Given the description of an element on the screen output the (x, y) to click on. 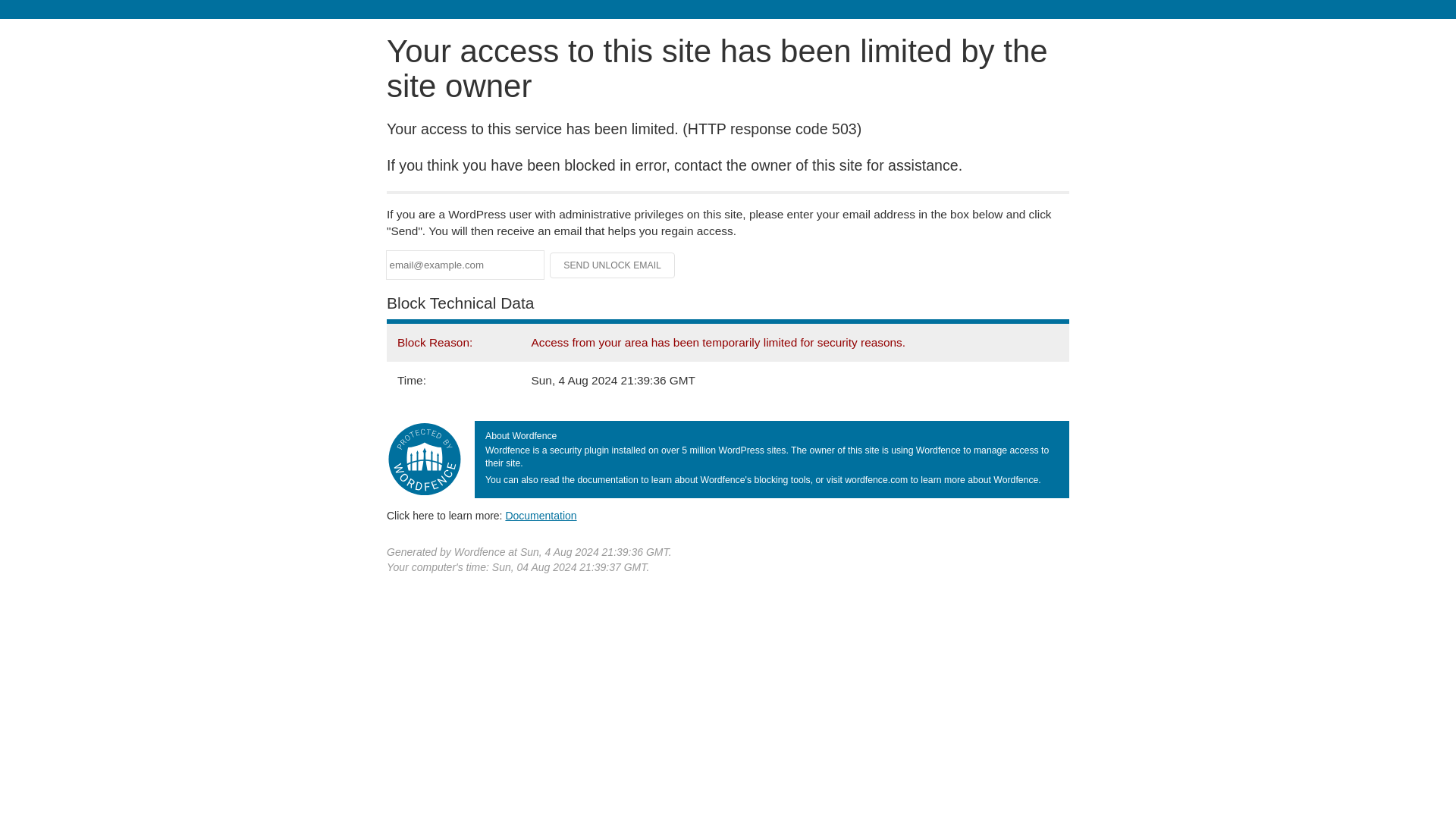
Documentation (540, 515)
Send Unlock Email (612, 265)
Send Unlock Email (612, 265)
